Given the description of an element on the screen output the (x, y) to click on. 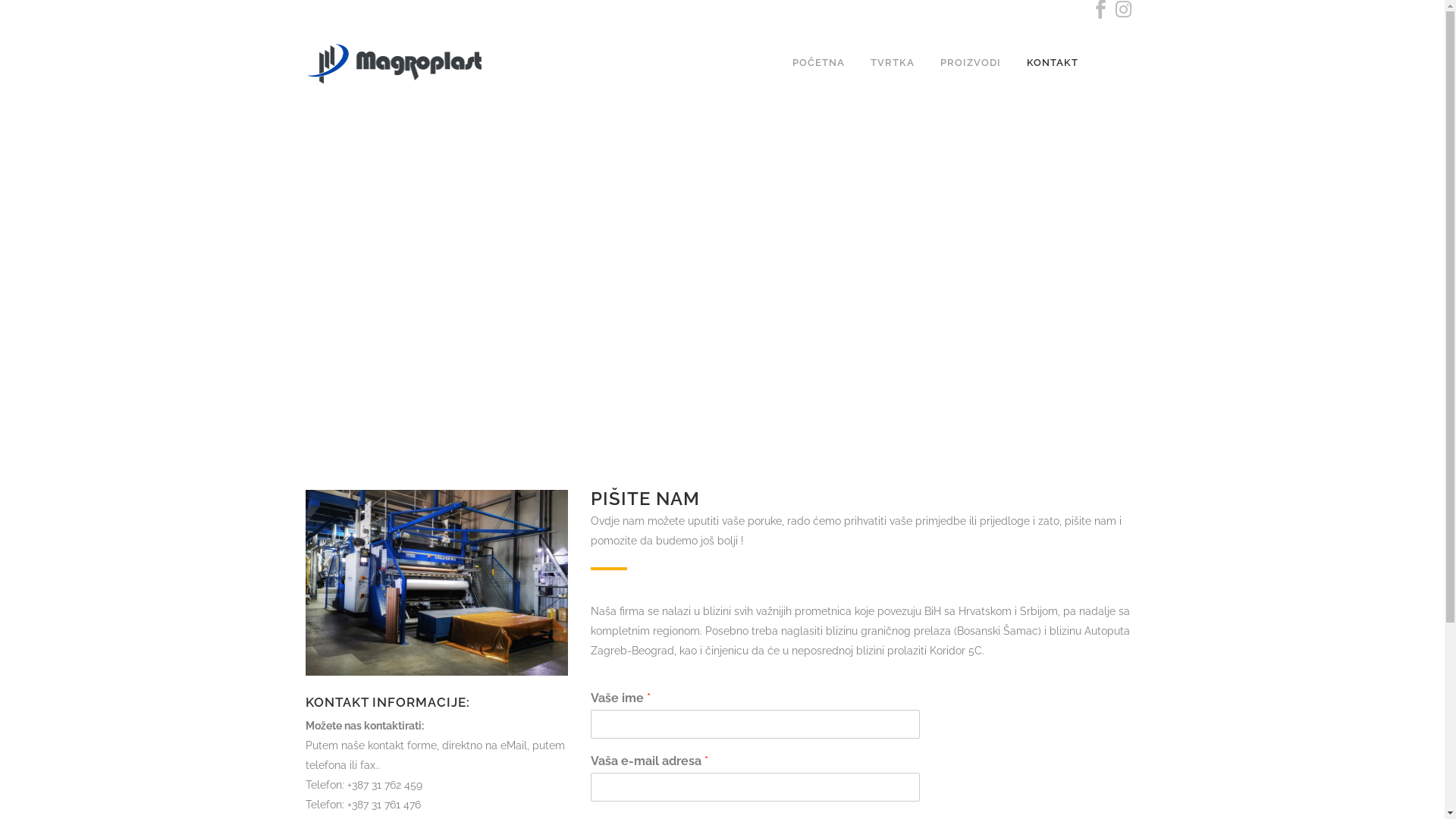
TVRTKA Element type: text (891, 62)
PROIZVODI Element type: text (969, 62)
KONTAKT Element type: text (1051, 62)
